Given the description of an element on the screen output the (x, y) to click on. 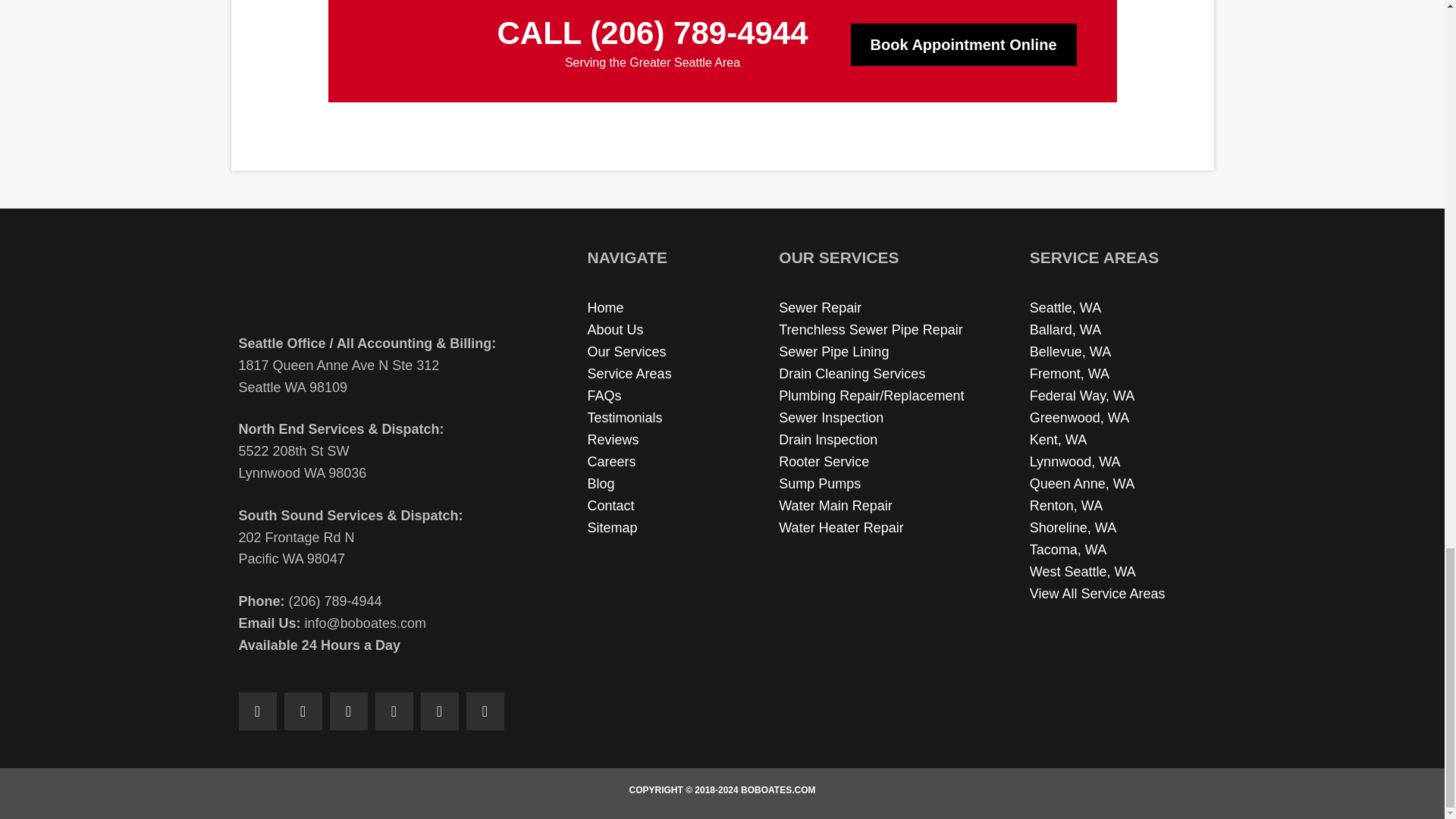
Bob Oates (371, 281)
bob-oates-seattle-wa-white (411, 44)
